Given the description of an element on the screen output the (x, y) to click on. 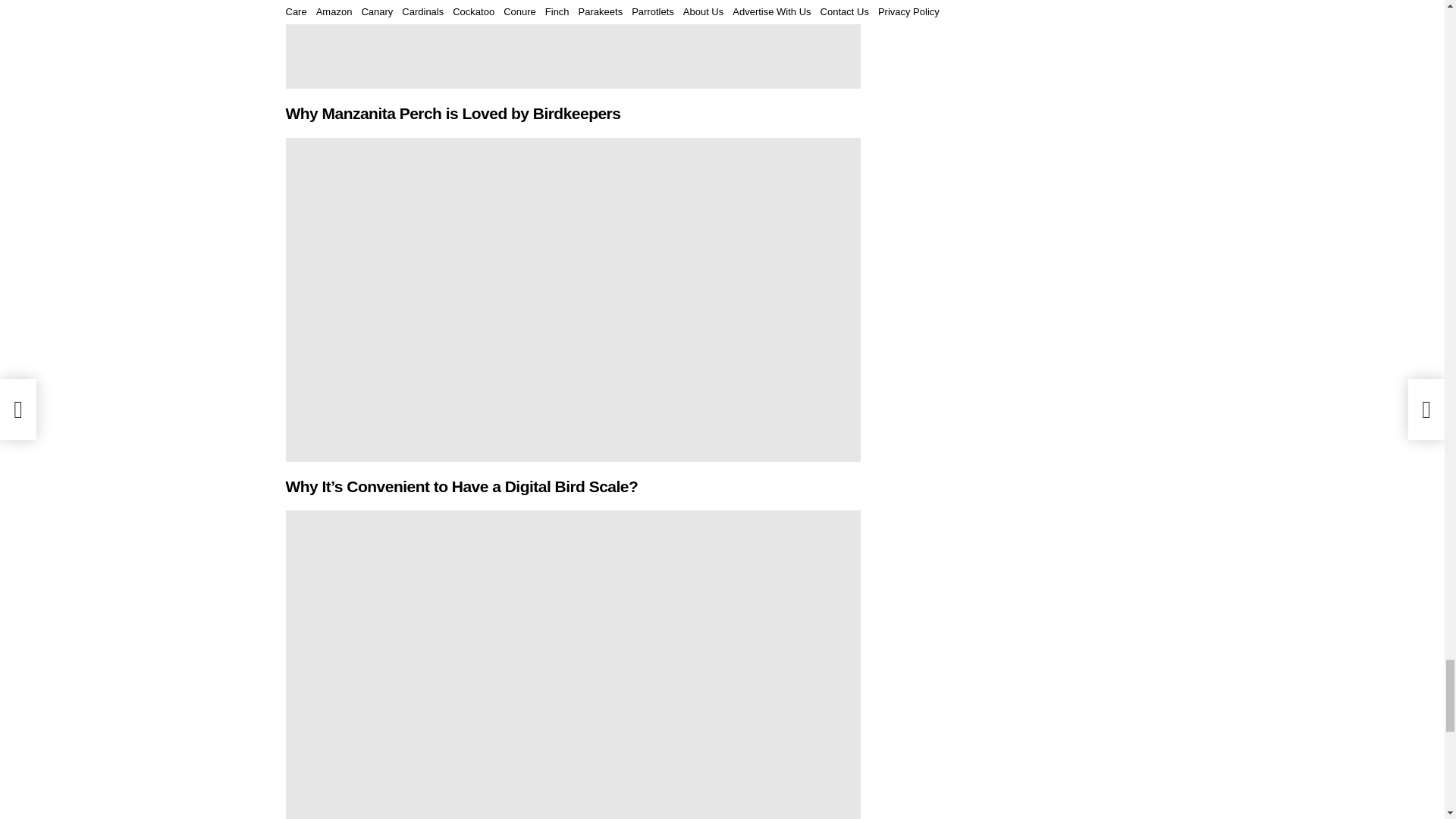
Why Manzanita Perch is Loved by Birdkeepers (572, 44)
